Given the description of an element on the screen output the (x, y) to click on. 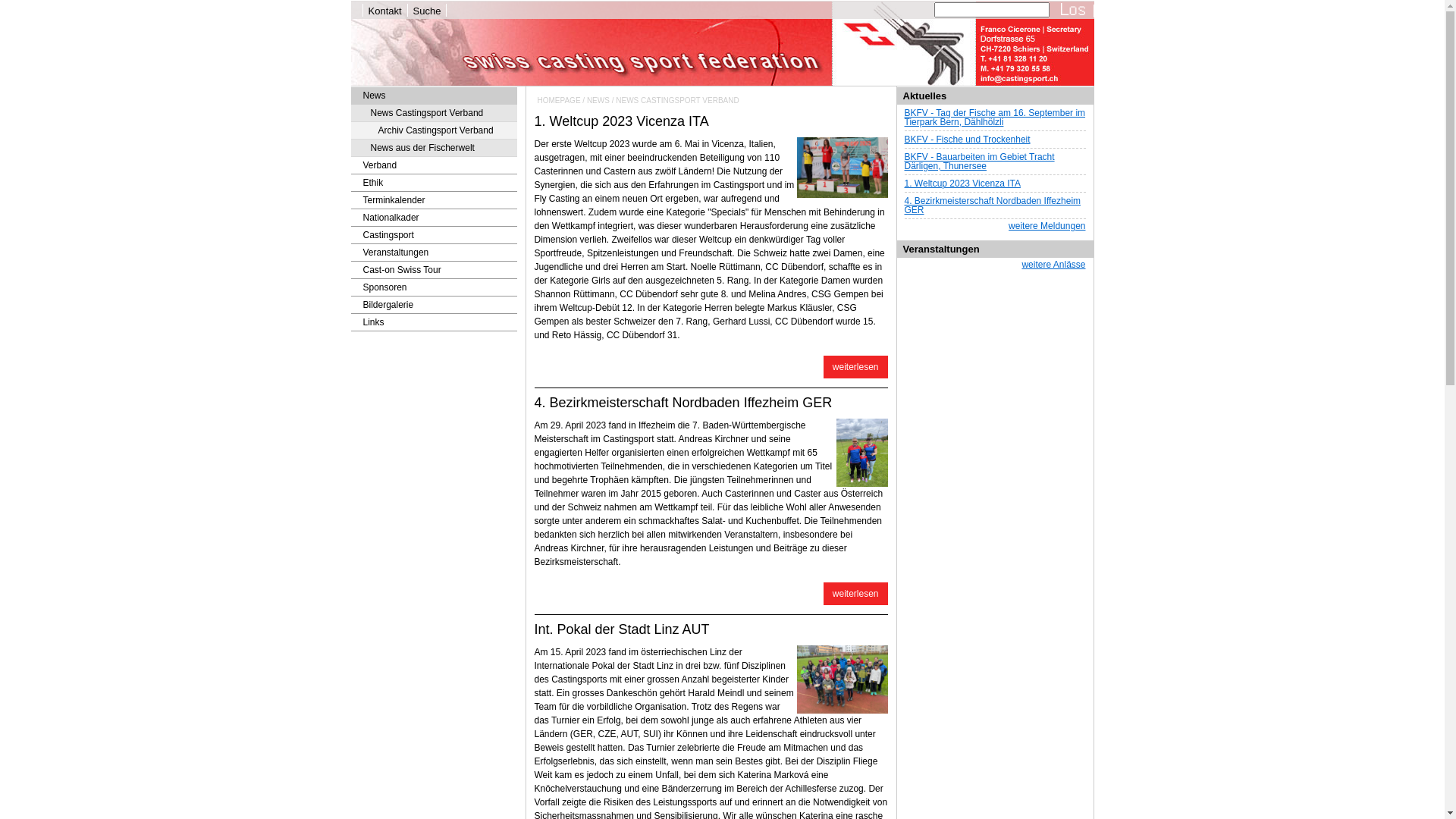
Veranstaltungen Element type: text (940, 248)
Kontakt Element type: text (384, 9)
weiterlesen Element type: text (855, 593)
Bildergalerie Element type: text (433, 304)
Verband Element type: text (433, 165)
HOMEPAGE Element type: text (558, 100)
4. Bezirkmeisterschaft Nordbaden Iffezheim GER Element type: hover (862, 452)
NEWS CASTINGSPORT VERBAND Element type: text (676, 100)
weitere Meldungen Element type: text (1046, 225)
Aktuelles Element type: text (924, 95)
Veranstaltungen Element type: text (433, 252)
Suche Element type: text (427, 9)
weiterlesen Element type: text (855, 366)
Terminkalender Element type: text (433, 200)
1. Weltcup 2023 Vicenza ITA Element type: text (961, 183)
4. Bezirkmeisterschaft Nordbaden Iffezheim GER Element type: text (991, 205)
Cast-on Swiss Tour Element type: text (433, 270)
NEWS Element type: text (597, 100)
Int. Pokal der Stadt Linz AUT Element type: text (621, 629)
4. Bezirkmeisterschaft Nordbaden Iffezheim GER Element type: text (682, 402)
Castingsport Element type: text (433, 235)
Links Element type: text (433, 322)
Ethik Element type: text (433, 182)
News aus der Fischerwelt Element type: text (433, 147)
Archiv Castingsport Verband Element type: text (433, 130)
Sponsoren Element type: text (433, 287)
Int. Pokal der Stadt Linz AUT Element type: hover (841, 679)
1. Weltcup 2023 Vicenza ITA Element type: hover (841, 167)
News Castingsport Verband Element type: text (433, 113)
BKFV - Fische und Trockenheit Element type: text (966, 139)
Nationalkader Element type: text (433, 217)
News Element type: text (433, 95)
1. Weltcup 2023 Vicenza ITA Element type: text (620, 120)
